Given the description of an element on the screen output the (x, y) to click on. 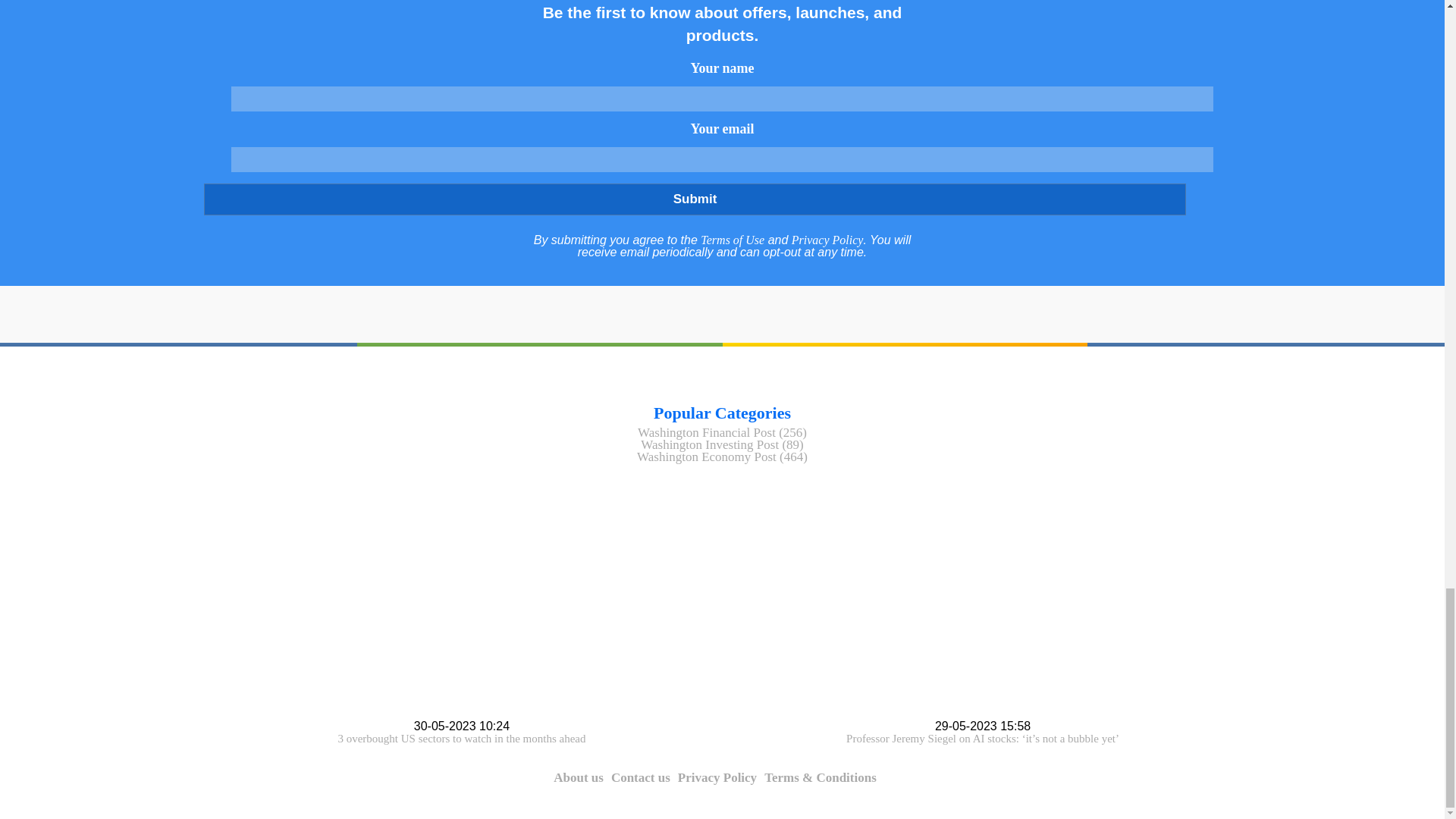
Submit (694, 199)
